Given the description of an element on the screen output the (x, y) to click on. 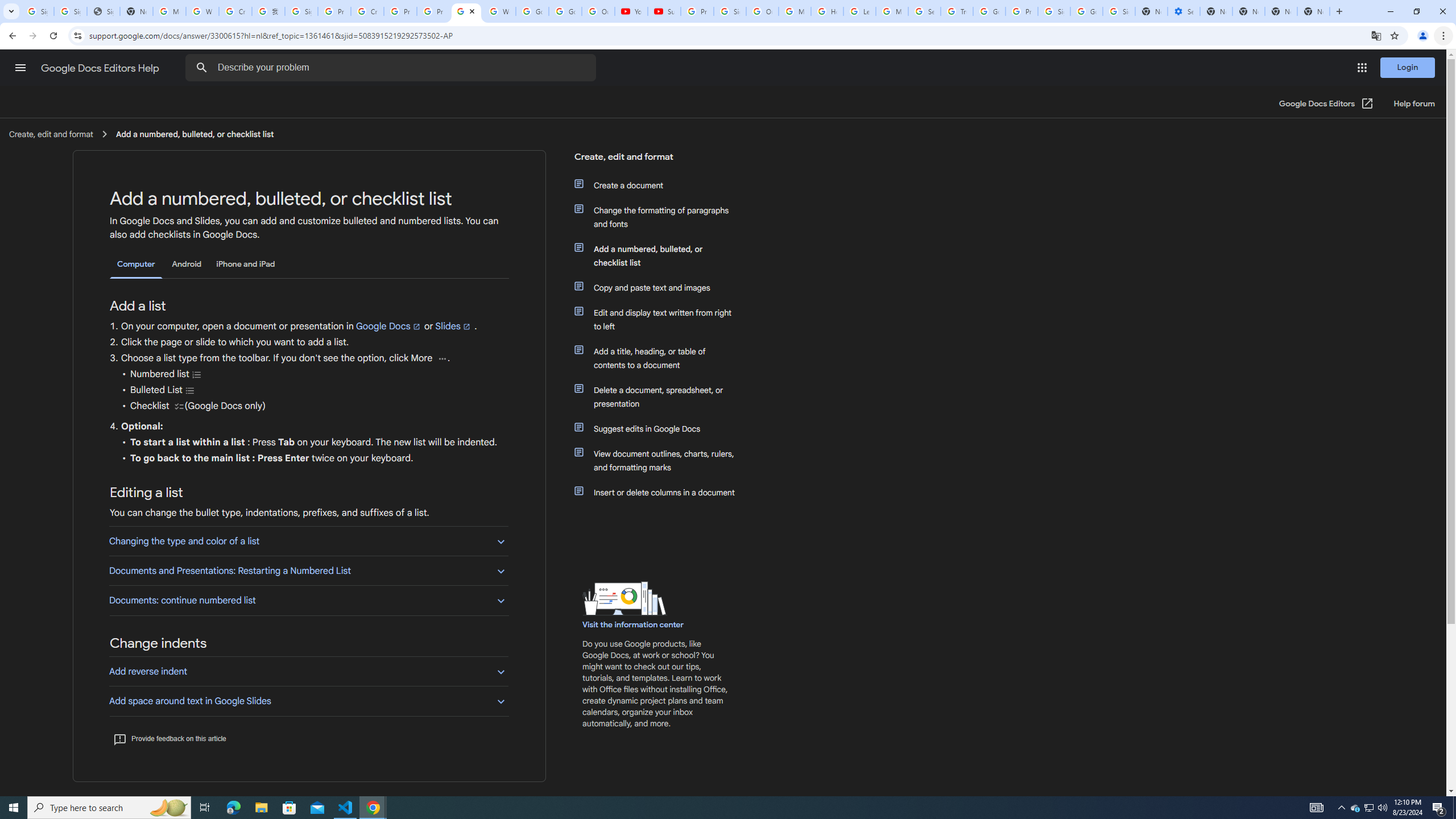
Bulleted List (189, 389)
Help forum (1414, 103)
Insert or delete columns in a document (661, 492)
YouTube (631, 11)
Sign in - Google Accounts (730, 11)
Documents: continue numbered list (308, 600)
New Tab (1313, 11)
Describe your problem (391, 67)
Suggest edits in Google Docs (661, 428)
Copy and paste text and images (661, 287)
